Given the description of an element on the screen output the (x, y) to click on. 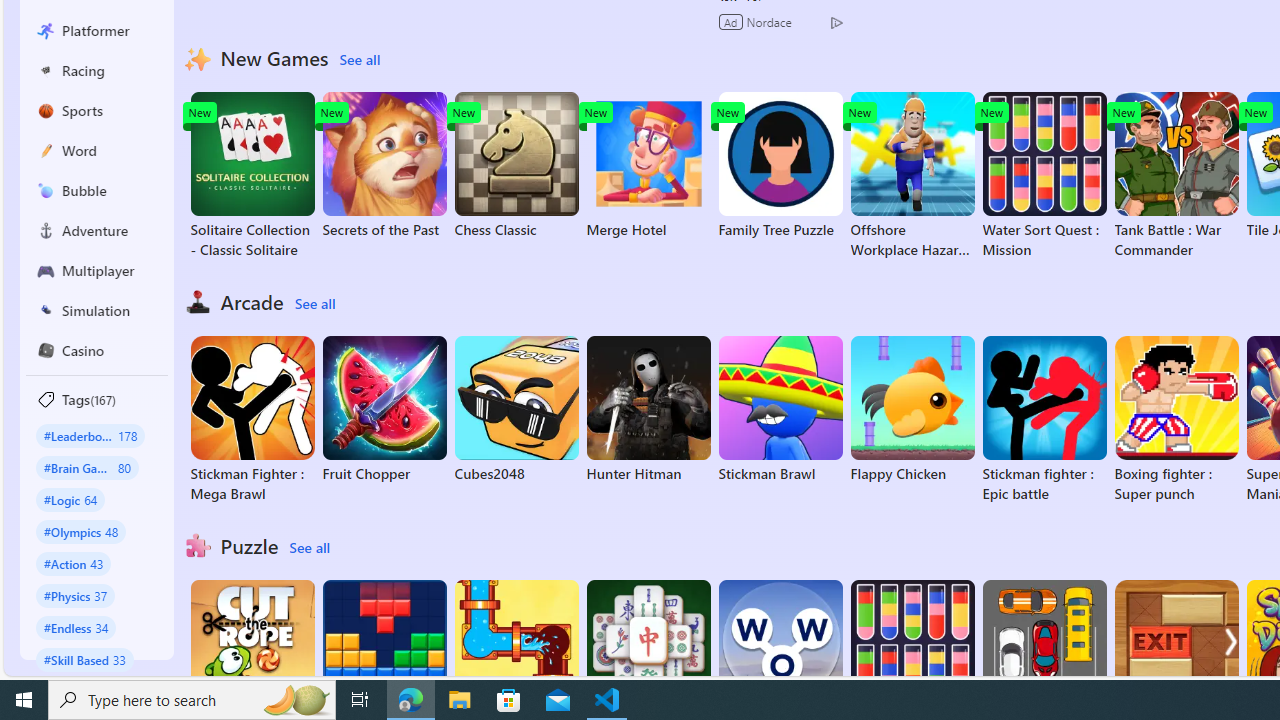
Fruit Chopper (384, 409)
Flappy Chicken (912, 409)
Offshore Workplace Hazard Game (912, 175)
#Logic 64 (70, 498)
#Skill Based 33 (84, 659)
#Endless 34 (75, 627)
#Physics 37 (75, 595)
#Leaderboard 178 (90, 435)
#Action 43 (73, 563)
Tank Battle : War Commander (1176, 175)
#Olympics 48 (80, 531)
Class: ad-choice  ad-choice-mono  (836, 21)
Stickman fighter : Epic battle (1044, 419)
Chess Classic (516, 165)
